Given the description of an element on the screen output the (x, y) to click on. 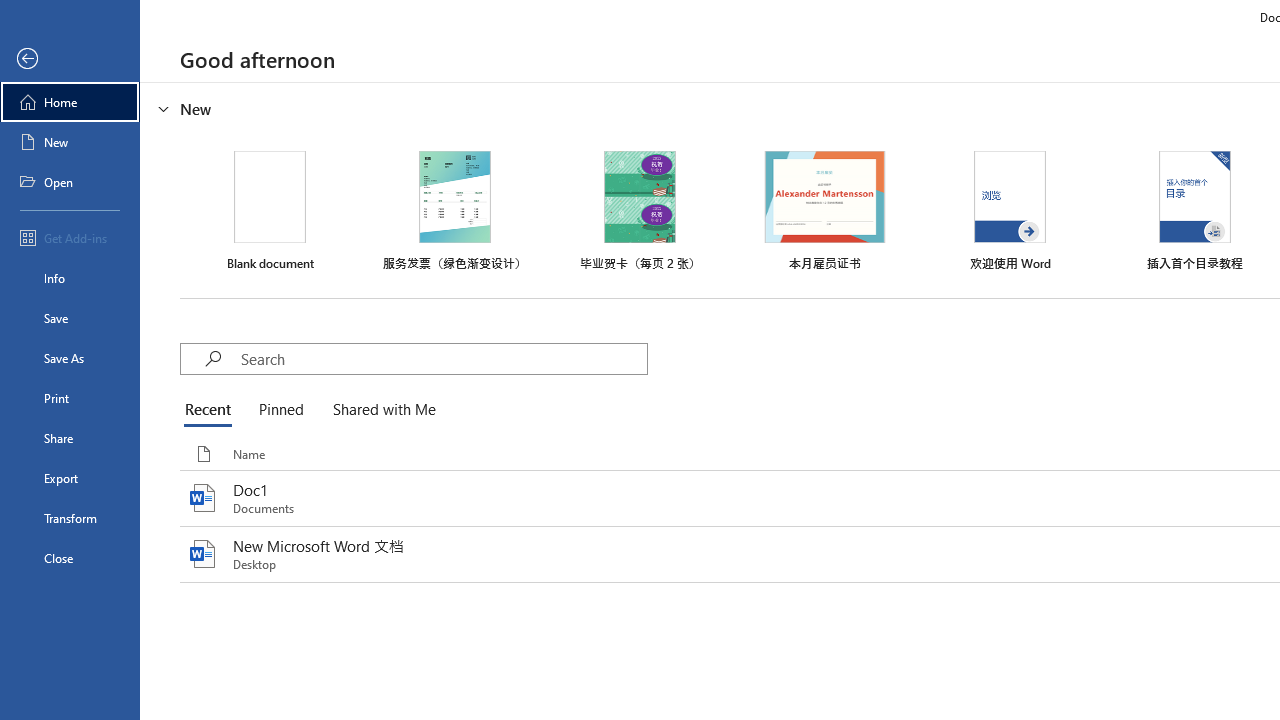
Get Add-ins (69, 237)
Home (69, 101)
Back (69, 59)
System (10, 11)
Shared with Me (379, 410)
Hide or show region (164, 108)
Transform (69, 517)
Save (69, 317)
Share (69, 437)
Search (443, 358)
